Given the description of an element on the screen output the (x, y) to click on. 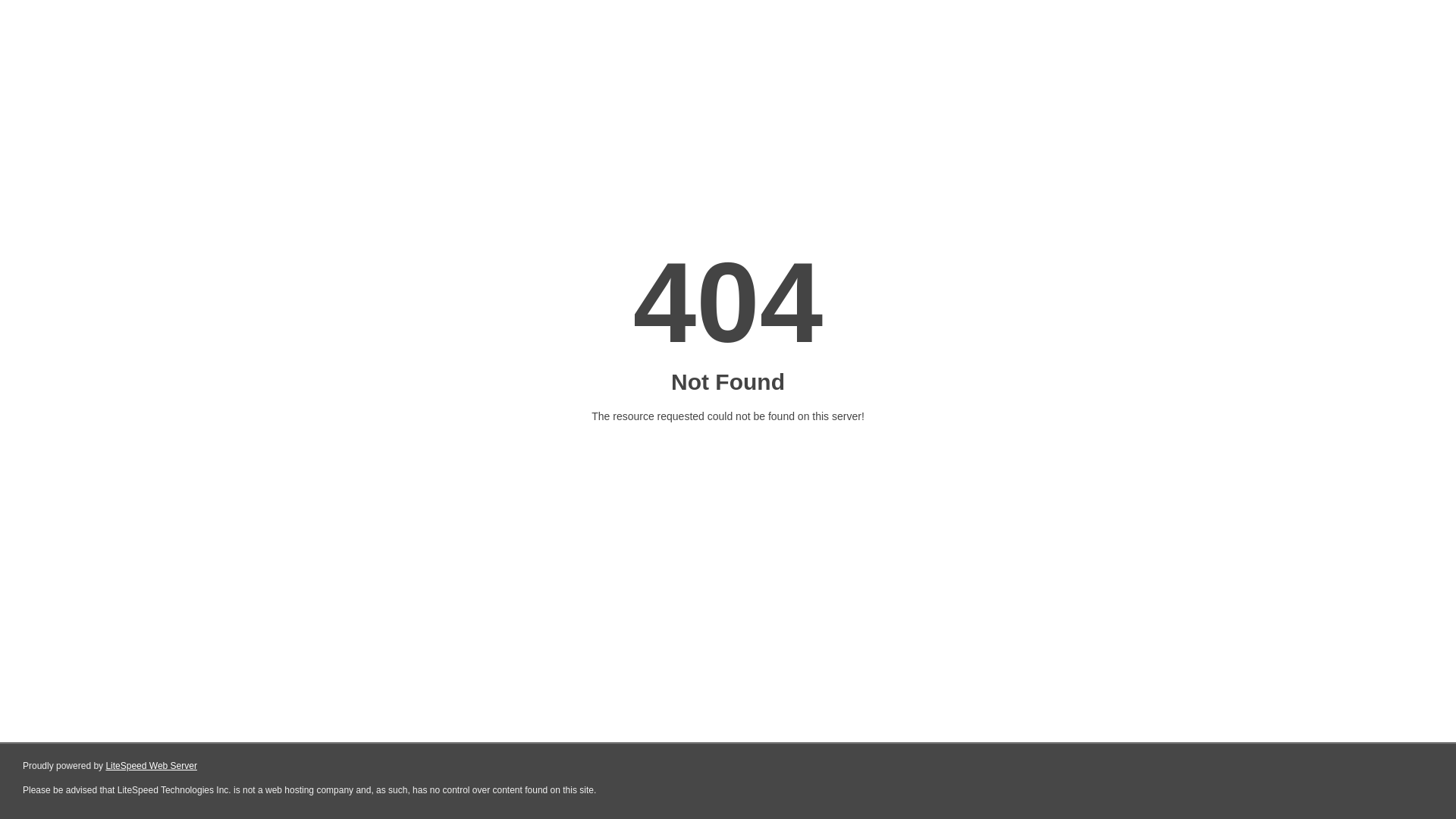
LiteSpeed Web Server Element type: text (151, 765)
